Given the description of an element on the screen output the (x, y) to click on. 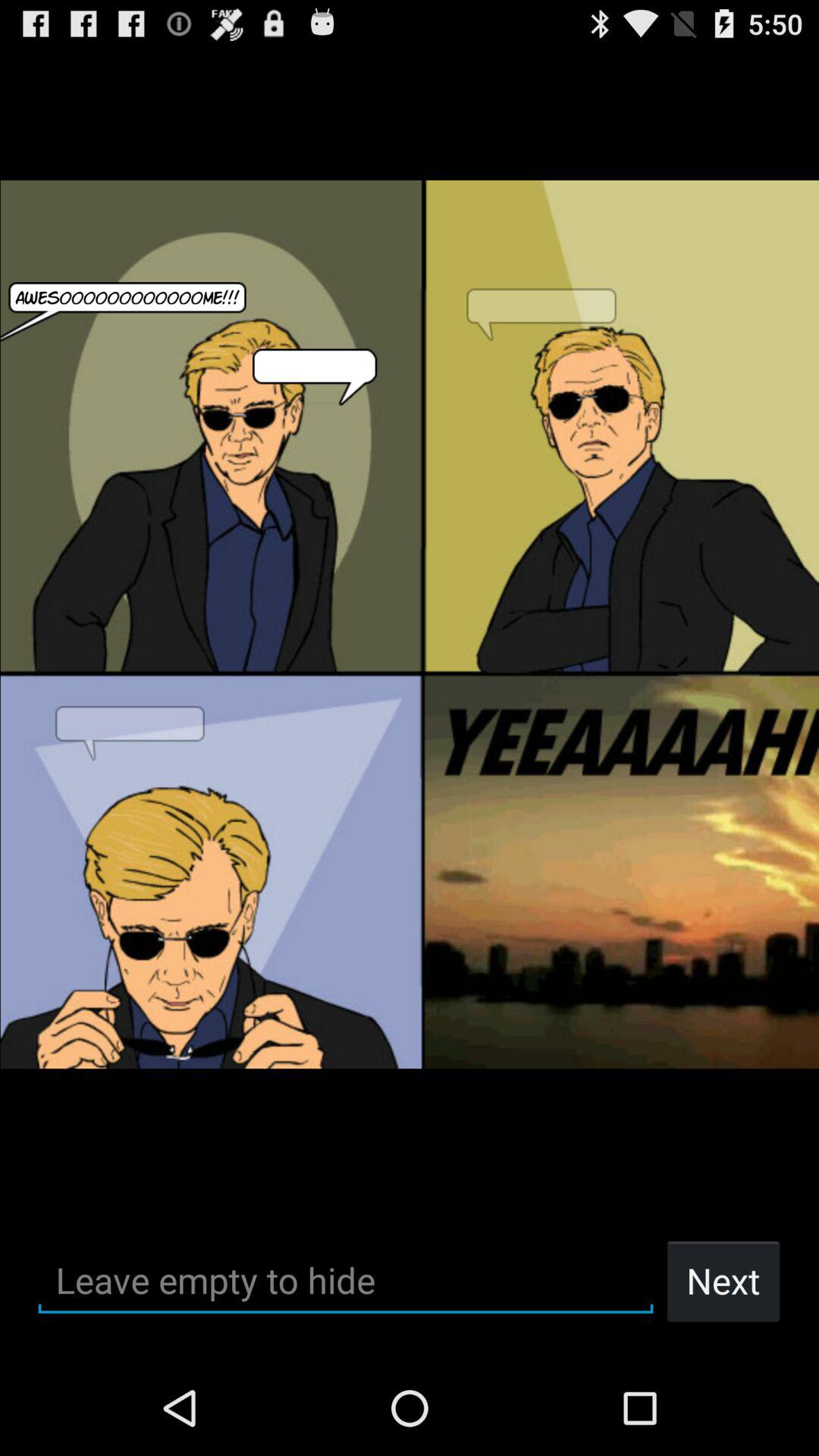
search bar (345, 1280)
